Given the description of an element on the screen output the (x, y) to click on. 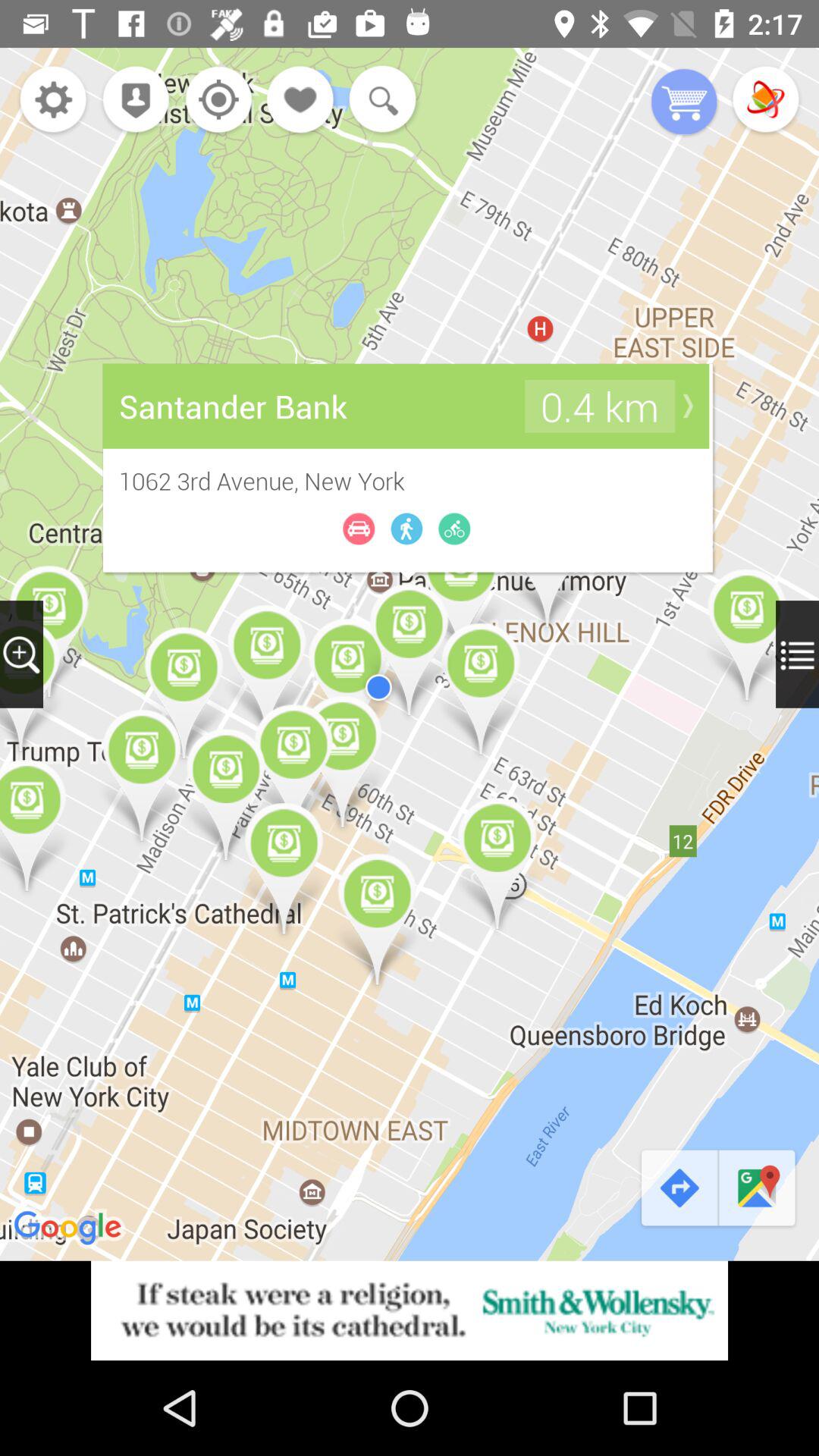
choose favourite symbol (300, 101)
